Given the description of an element on the screen output the (x, y) to click on. 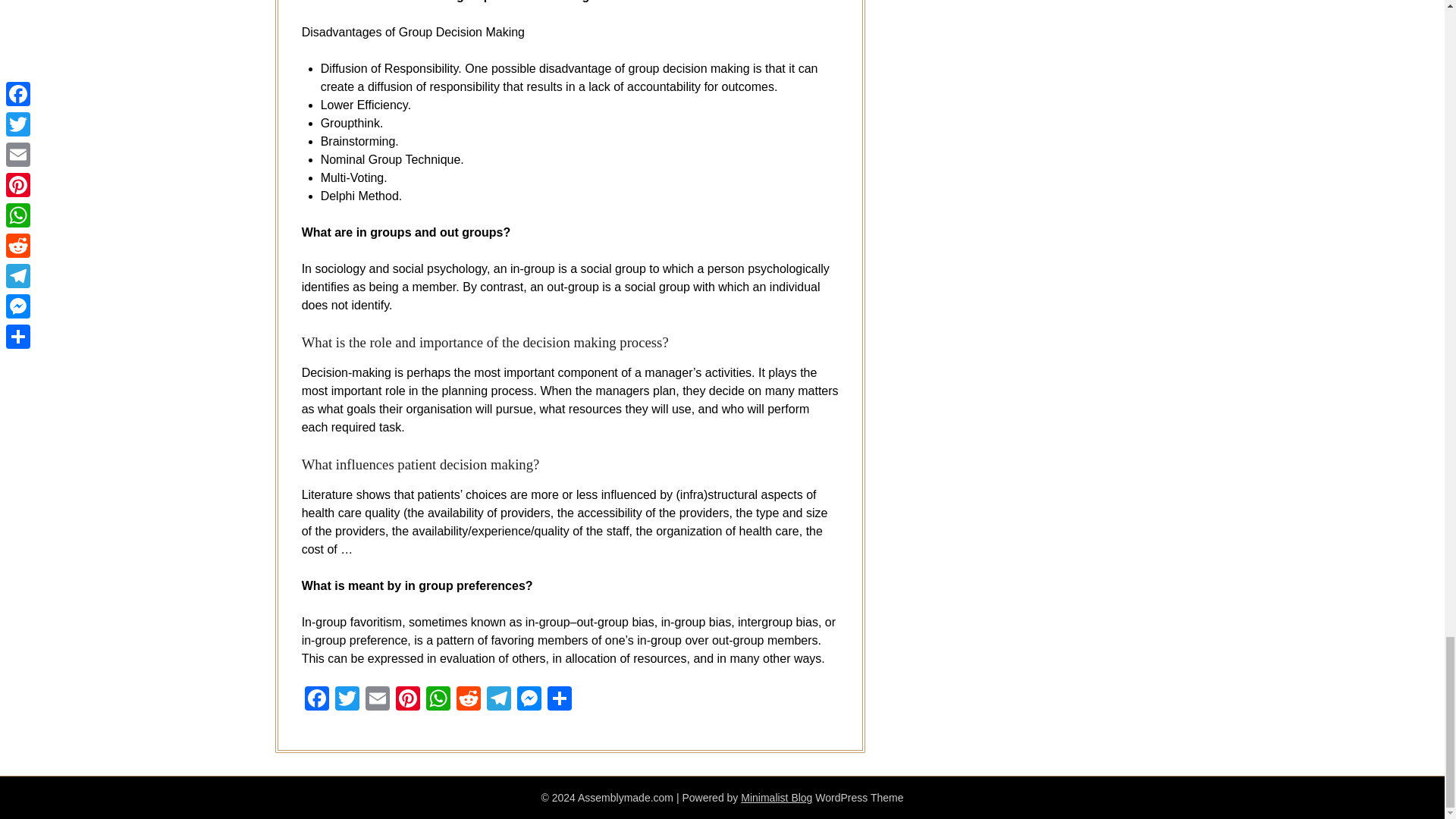
Messenger (528, 700)
Facebook (316, 700)
Twitter (346, 700)
Twitter (346, 700)
WhatsApp (437, 700)
Facebook (316, 700)
Pinterest (408, 700)
Pinterest (408, 700)
WhatsApp (437, 700)
Email (377, 700)
